Given the description of an element on the screen output the (x, y) to click on. 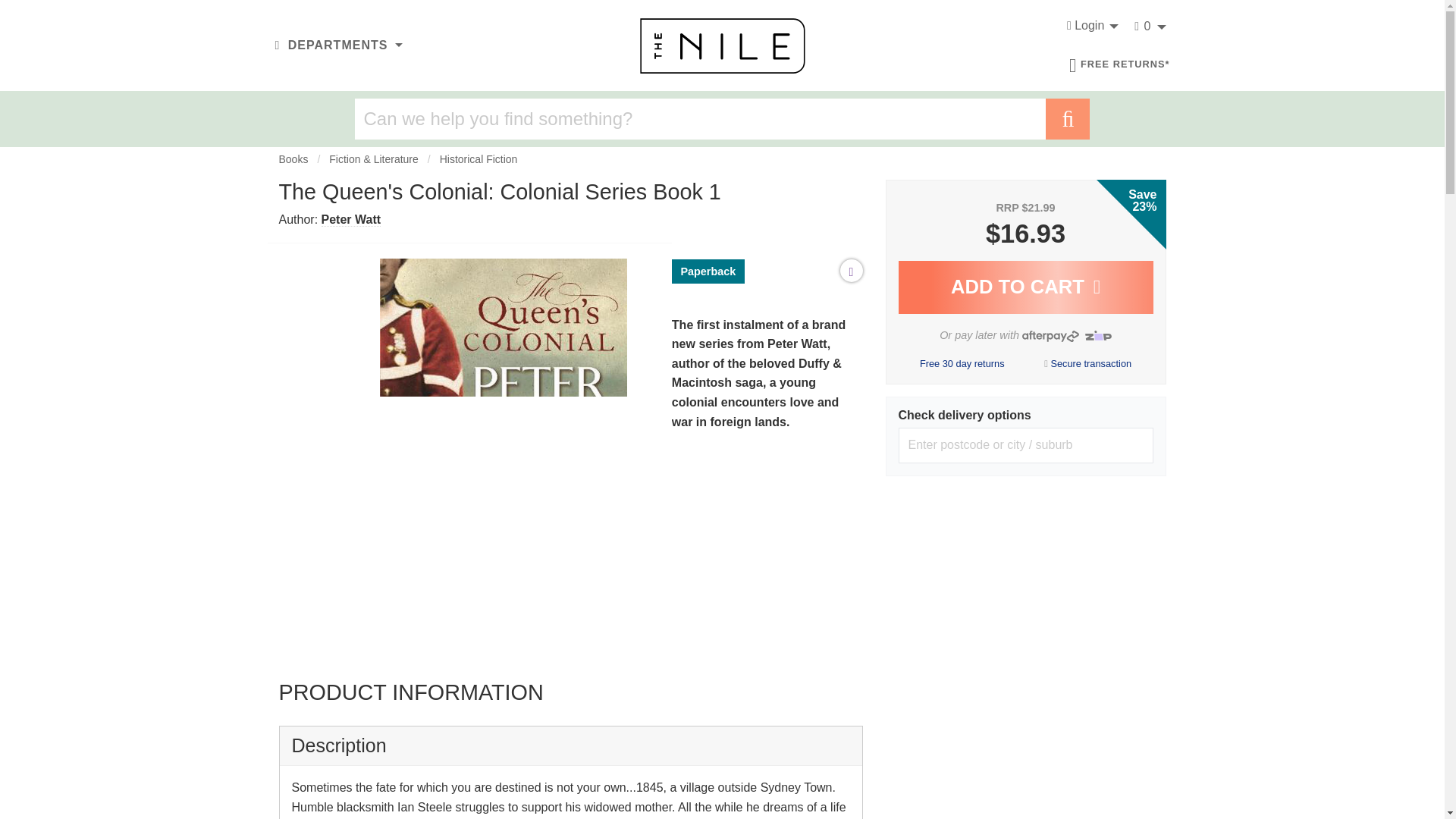
0 (1145, 27)
Login (1088, 26)
How Afterpay Works (1050, 335)
How Zip Works (1095, 333)
